Given the description of an element on the screen output the (x, y) to click on. 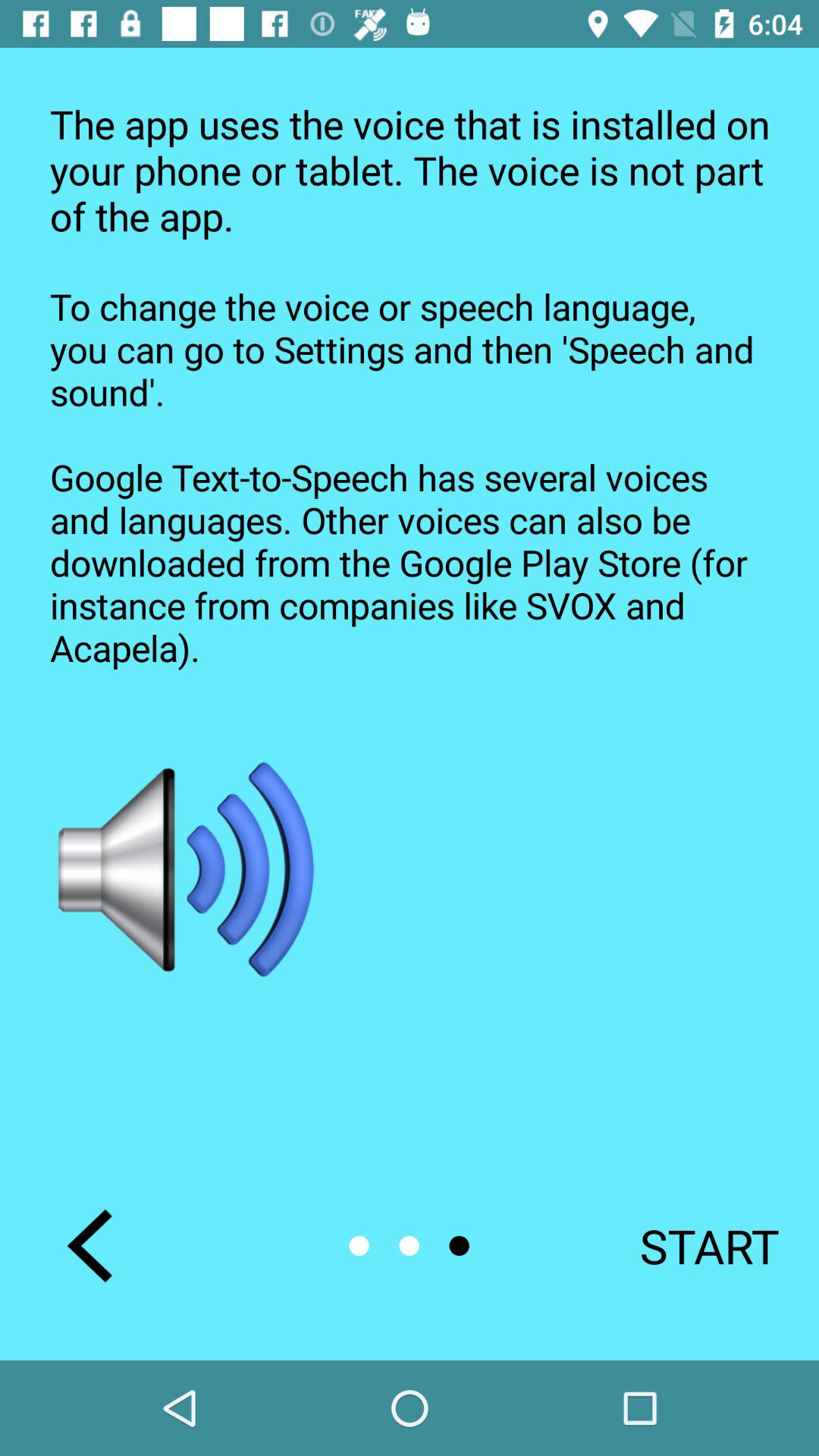
turn on the start at the bottom right corner (689, 1245)
